Given the description of an element on the screen output the (x, y) to click on. 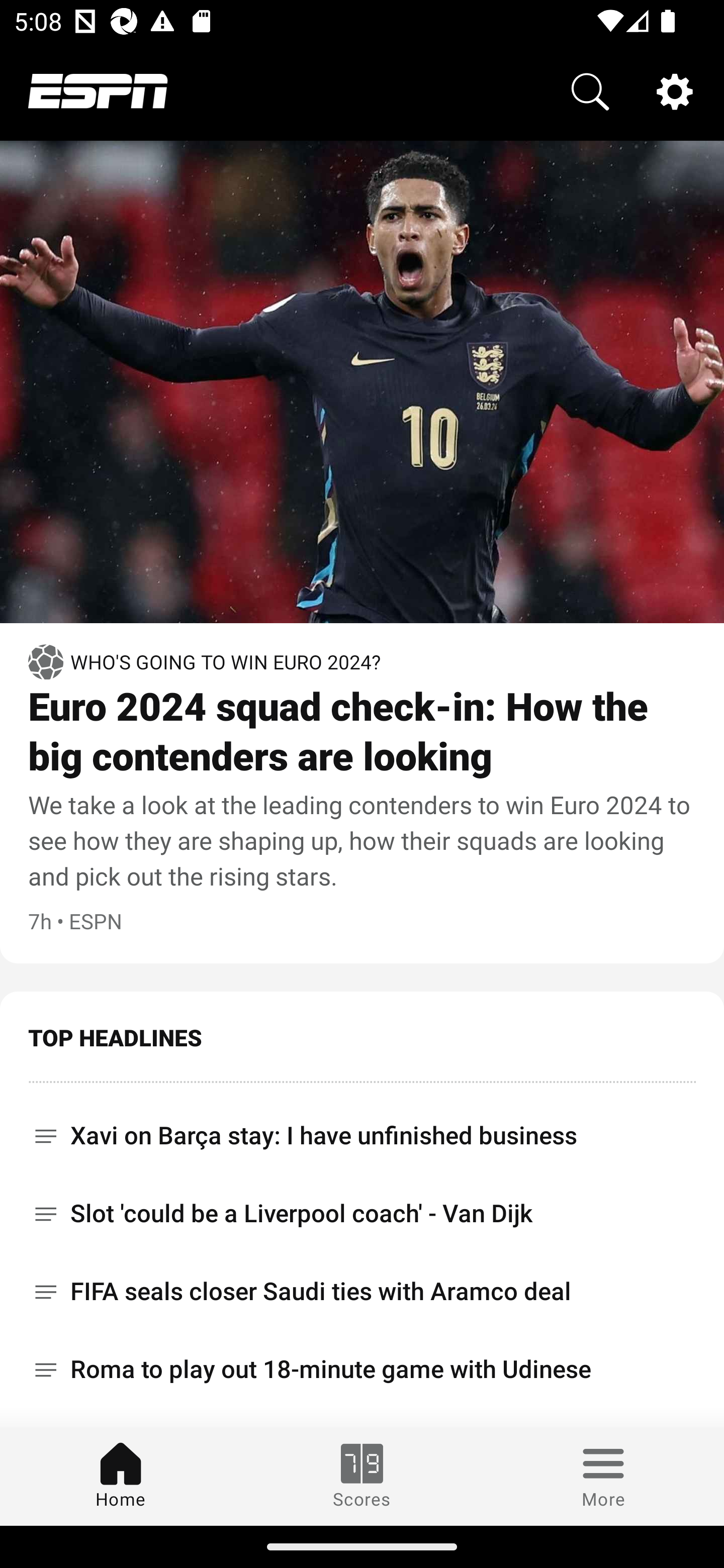
Search (590, 90)
Settings (674, 90)
 Xavi on Barça stay: I have unfinished business (362, 1128)
 Slot 'could be a Liverpool coach' - Van Dijk (362, 1213)
 FIFA seals closer Saudi ties with Aramco deal (362, 1291)
 Roma to play out 18-minute game with Udinese (362, 1369)
Scores (361, 1475)
More (603, 1475)
